Given the description of an element on the screen output the (x, y) to click on. 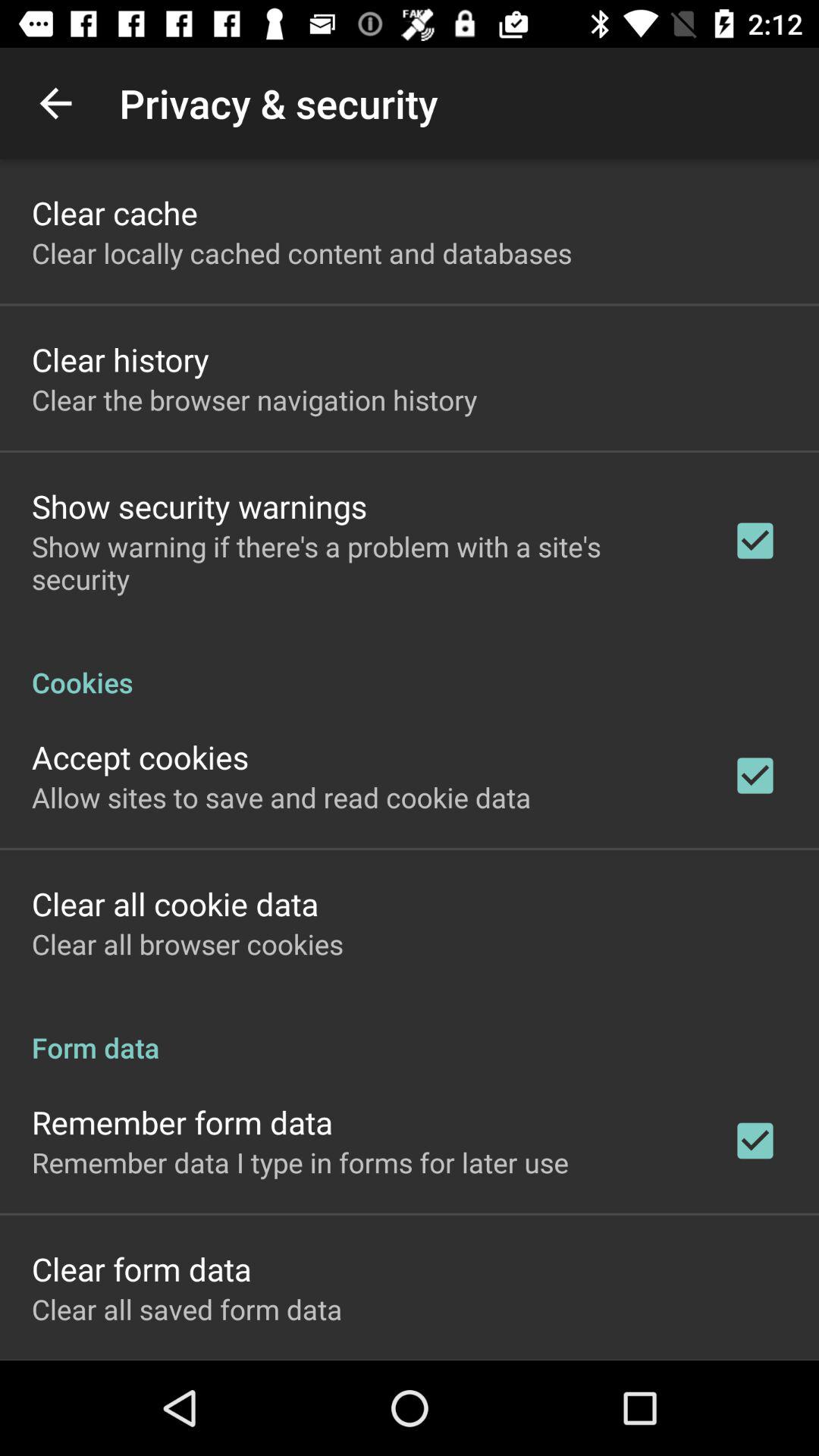
swipe to allow sites to item (281, 797)
